Given the description of an element on the screen output the (x, y) to click on. 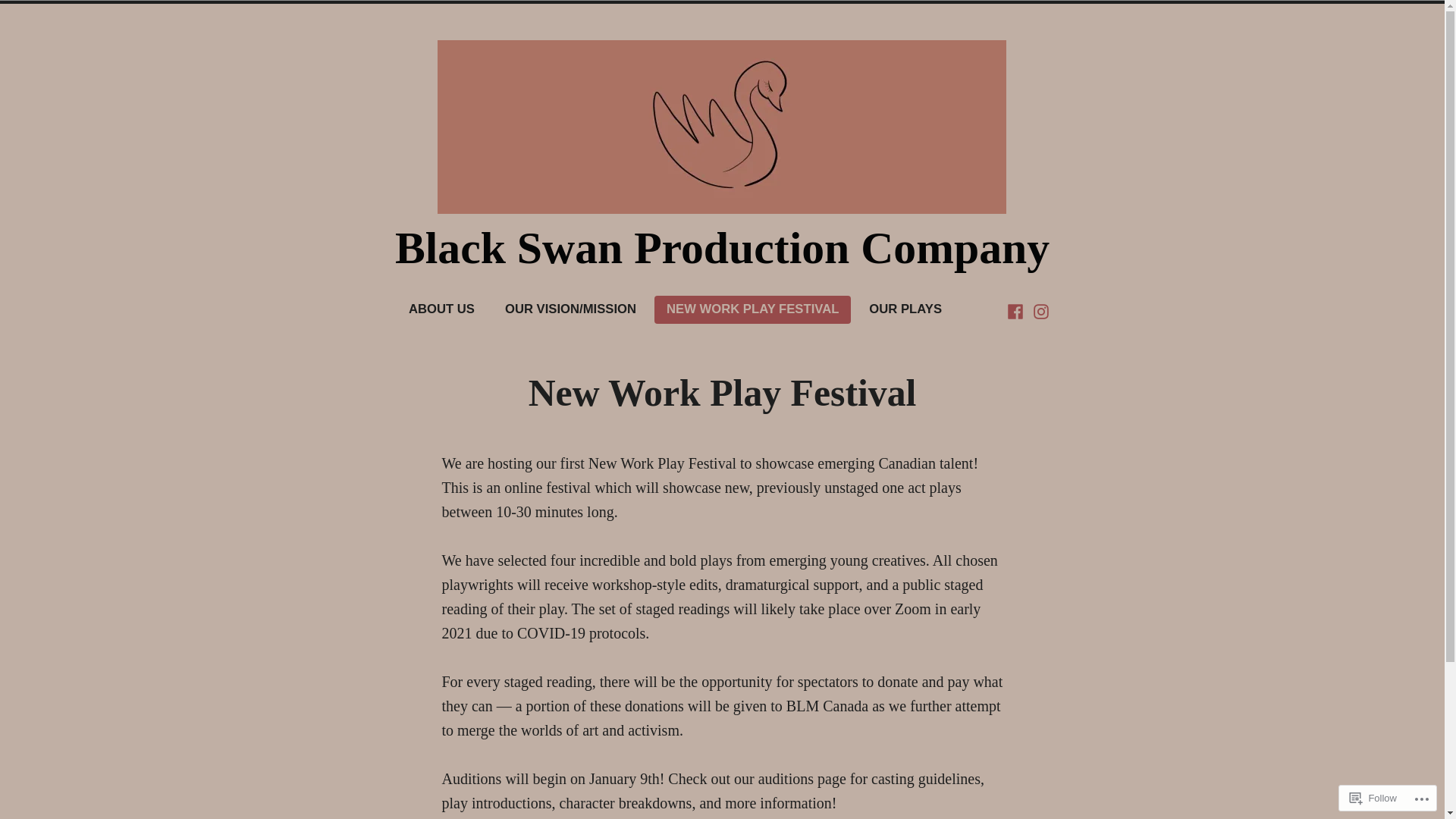
NEW WORK PLAY FESTIVAL Element type: text (752, 309)
ABOUT US Element type: text (441, 309)
Black Swan Production Company Element type: text (722, 247)
Follow Element type: text (1372, 797)
OUR VISION/MISSION Element type: text (570, 309)
OUR PLAYS Element type: text (904, 309)
